Given the description of an element on the screen output the (x, y) to click on. 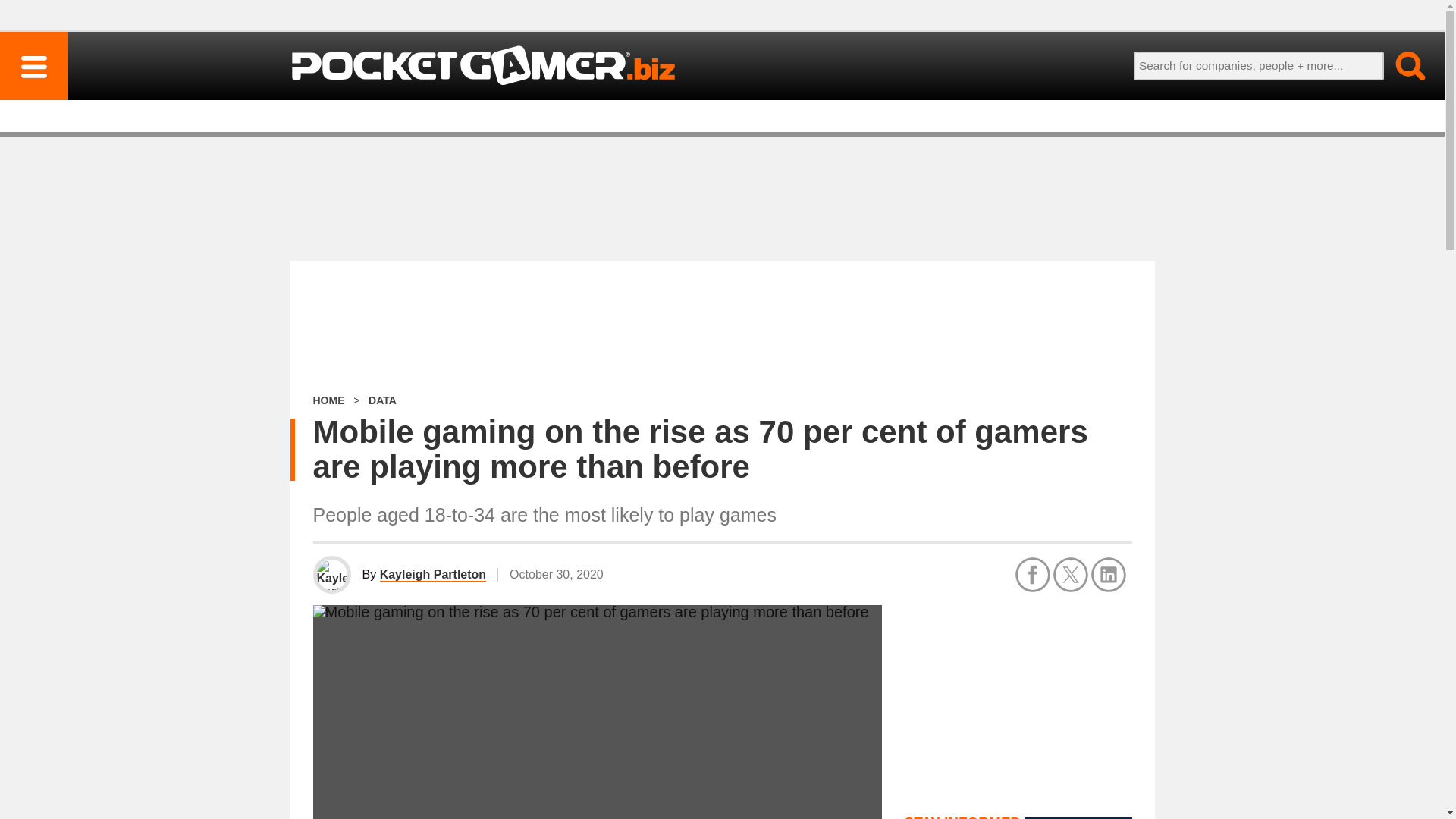
DATA (382, 400)
HOME (328, 400)
Go (1402, 65)
Go (1402, 65)
Kayleigh Partleton (433, 575)
